Given the description of an element on the screen output the (x, y) to click on. 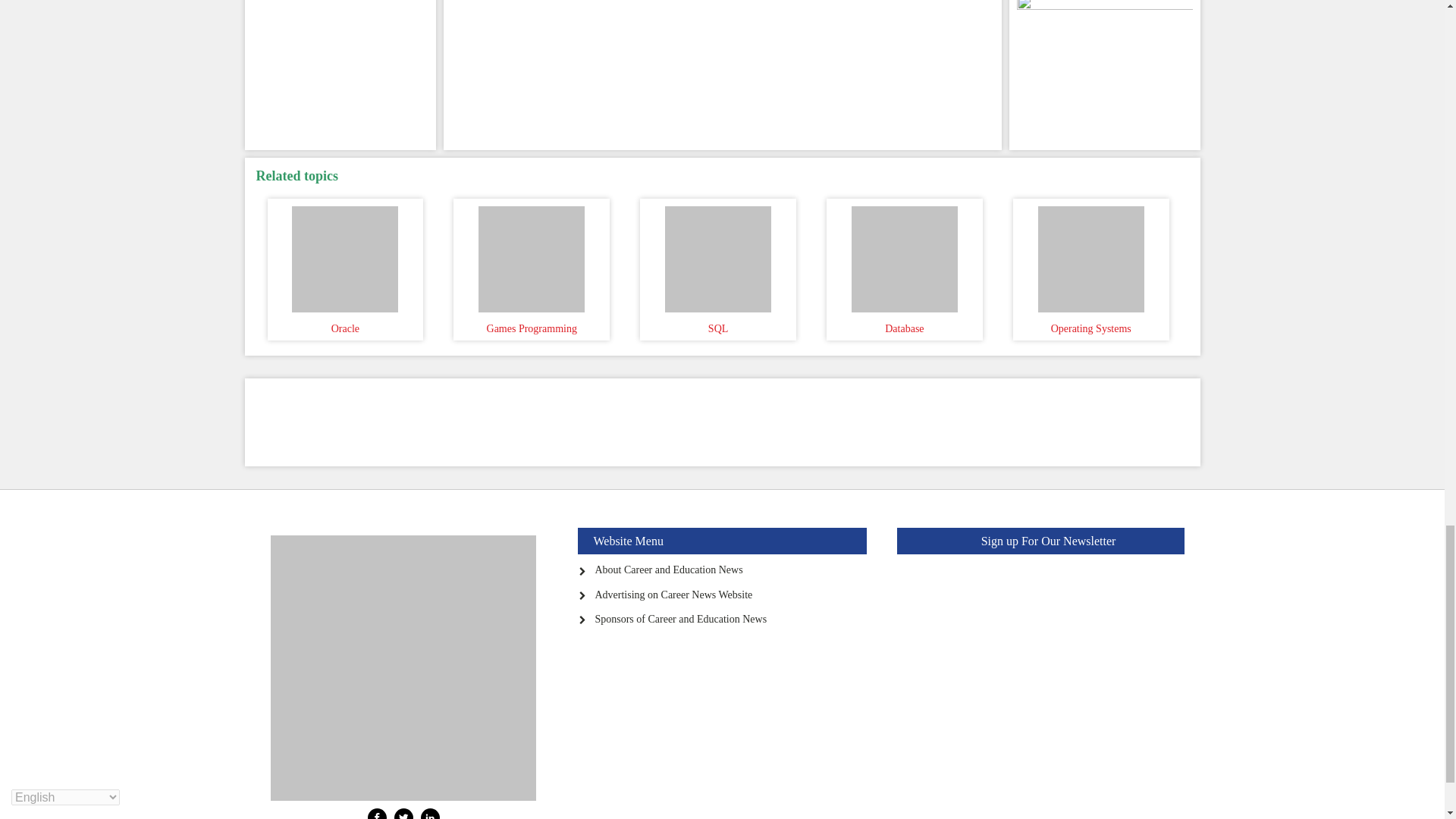
Operating Systems (1091, 255)
Oracle (345, 255)
Database (903, 255)
SQL (717, 255)
Games Programming (531, 255)
